Given the description of an element on the screen output the (x, y) to click on. 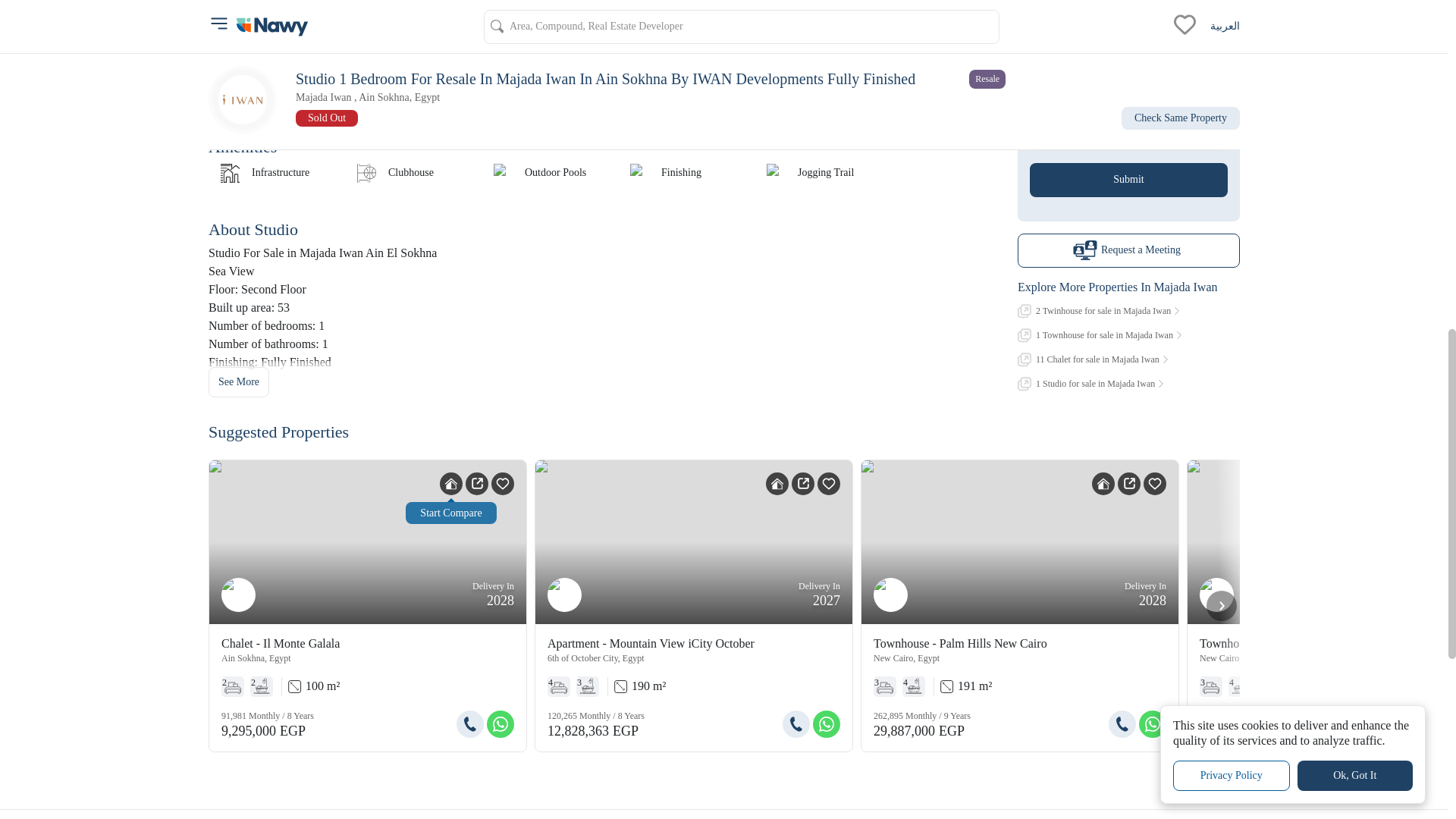
1 Studio for sale in Majada Iwan (1128, 377)
Submit (1128, 173)
Request a Meeting (1128, 244)
2 Twinhouse for sale in Majada Iwan (1128, 304)
11 Chalet for sale in Majada Iwan (1128, 352)
See More (238, 381)
1 Townhouse for sale in Majada Iwan (1128, 328)
